Given the description of an element on the screen output the (x, y) to click on. 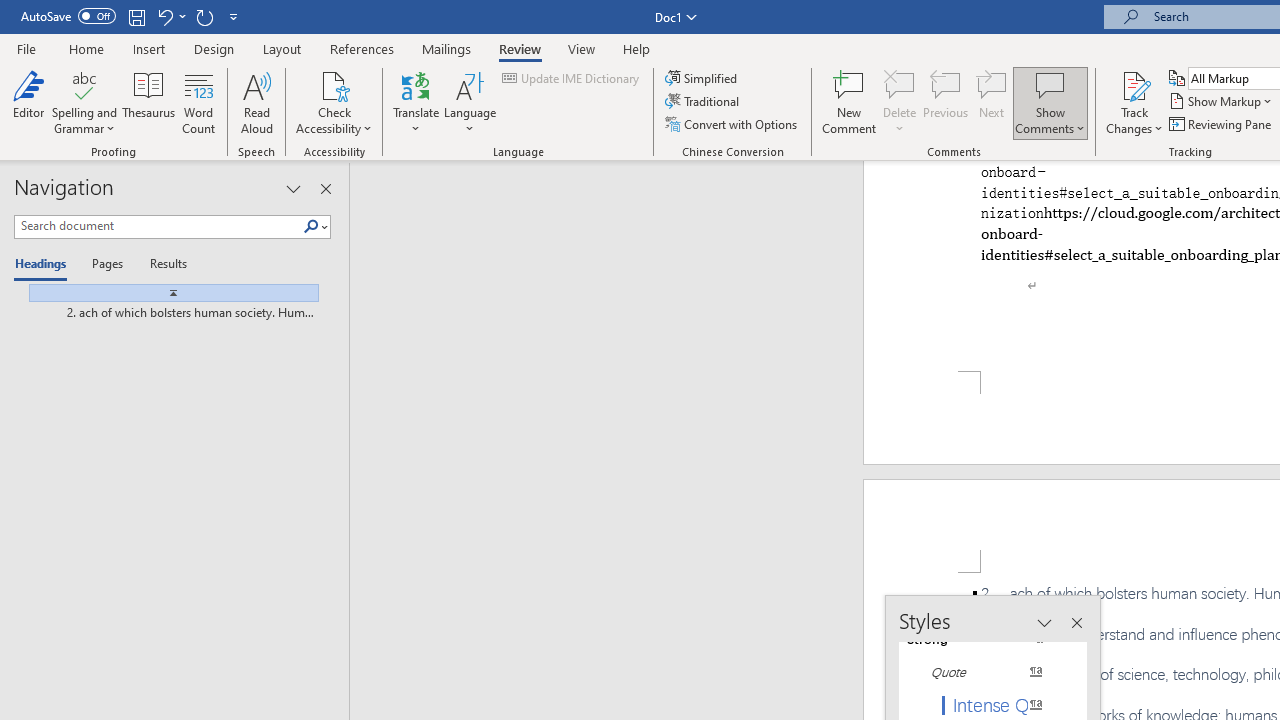
Class: NetUIImage (173, 292)
Help (637, 48)
Update IME Dictionary... (572, 78)
Track Changes (1134, 102)
Search document (157, 226)
Undo Style (170, 15)
Undo Style (164, 15)
Delete (900, 84)
Word Count (198, 102)
Search (311, 227)
Show Comments (1050, 102)
Repeat Style (204, 15)
New Comment (849, 102)
Quote (984, 672)
Customize Quick Access Toolbar (234, 15)
